Given the description of an element on the screen output the (x, y) to click on. 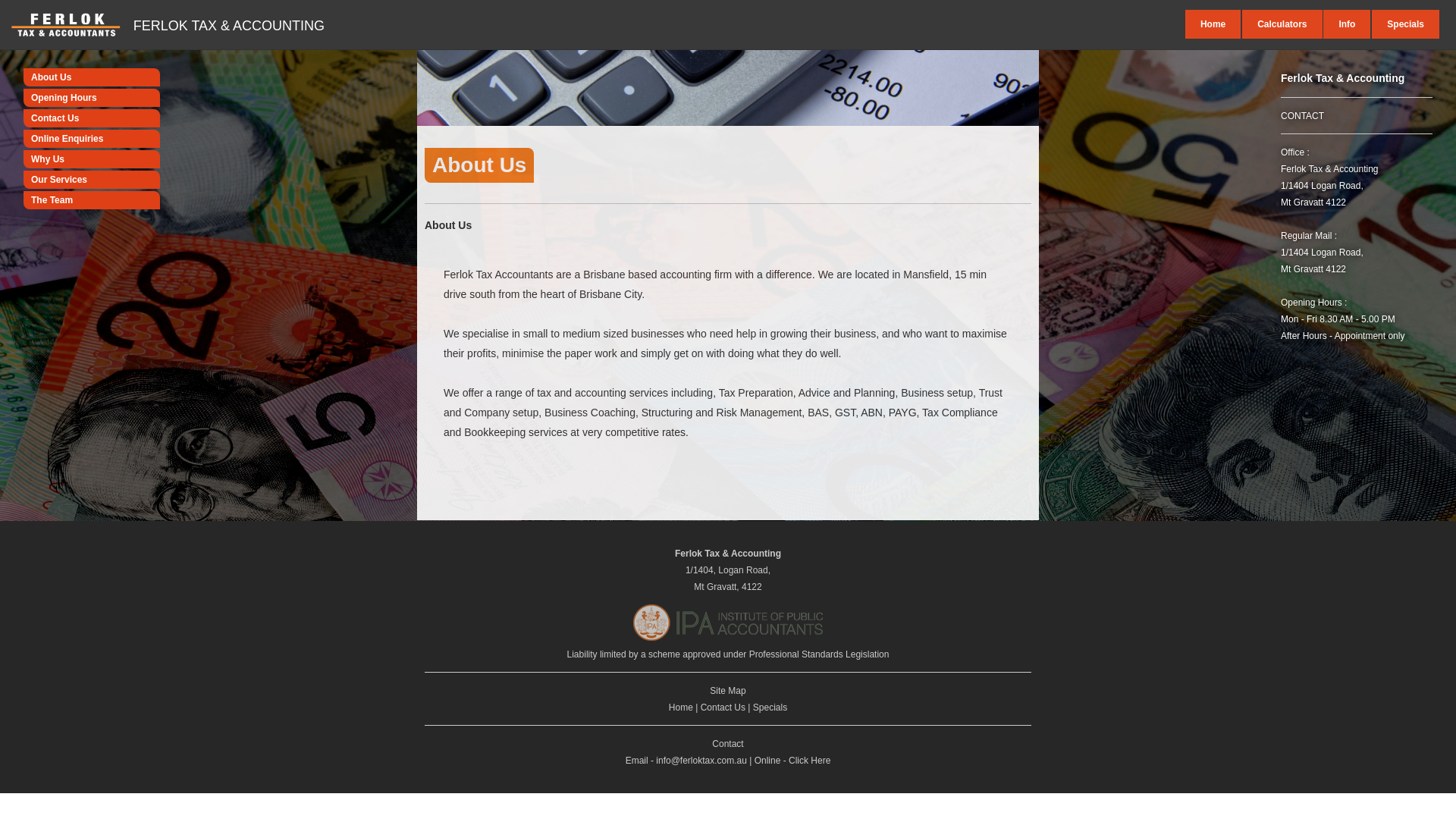
Specials Element type: text (770, 707)
Home Element type: text (680, 707)
Specials Element type: text (1405, 23)
Home Element type: text (1212, 23)
Online Enquiries Element type: text (91, 138)
Why Us Element type: text (91, 159)
Info Element type: text (1346, 23)
Contact Us Element type: text (722, 707)
Our Services Element type: text (91, 179)
Contact Us Element type: text (91, 118)
Calculators Element type: text (1281, 23)
Opening Hours Element type: text (91, 97)
About Us Element type: text (91, 77)
The Team Element type: text (91, 200)
Click Here Element type: text (809, 760)
info@ferloktax.com.au Element type: text (700, 760)
